Given the description of an element on the screen output the (x, y) to click on. 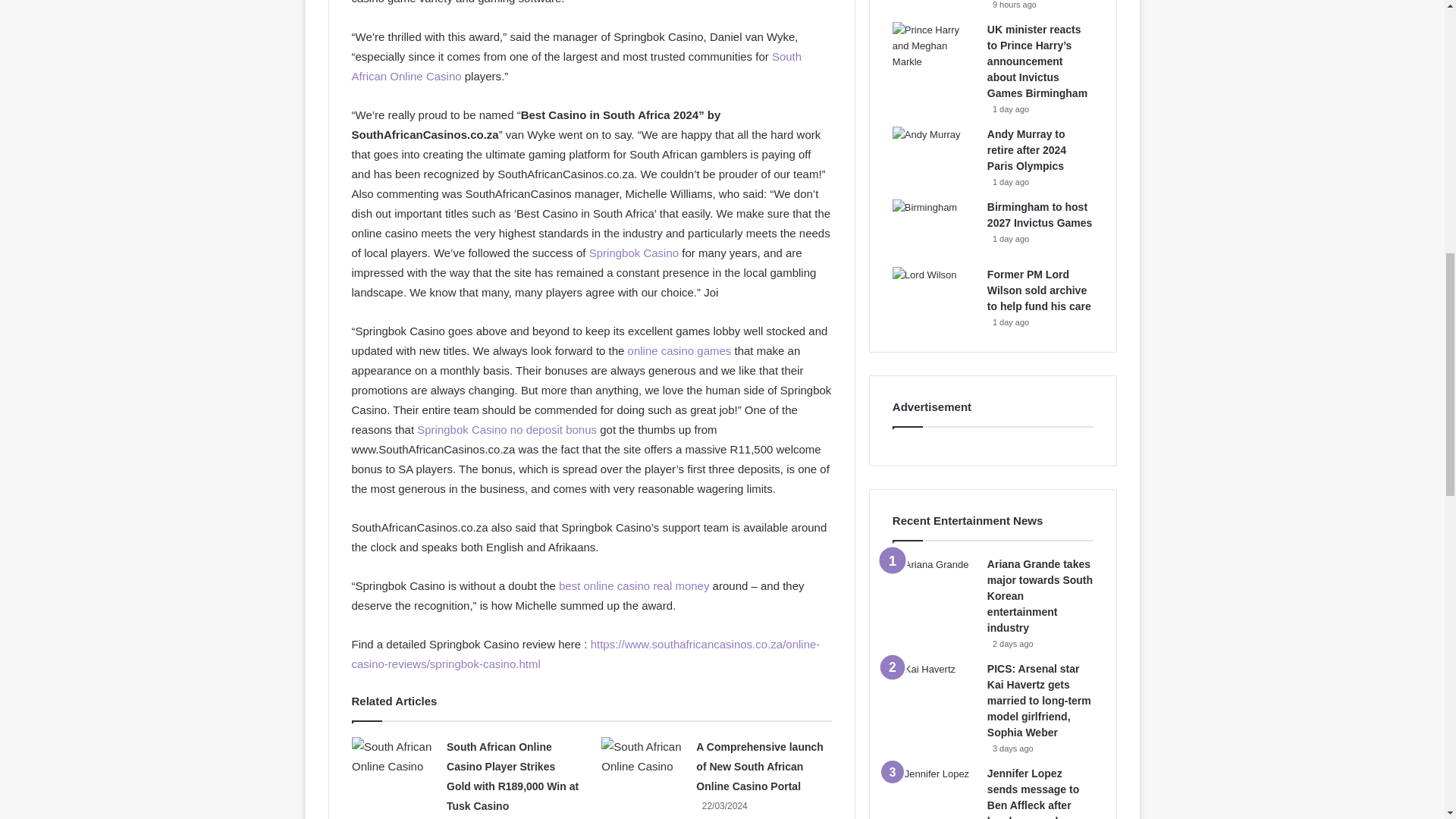
South African Online Casino (577, 65)
Springbok Casino no deposit bonus (506, 429)
Springbok Casino (633, 252)
online casino games (679, 350)
best online casino real money (634, 585)
